Given the description of an element on the screen output the (x, y) to click on. 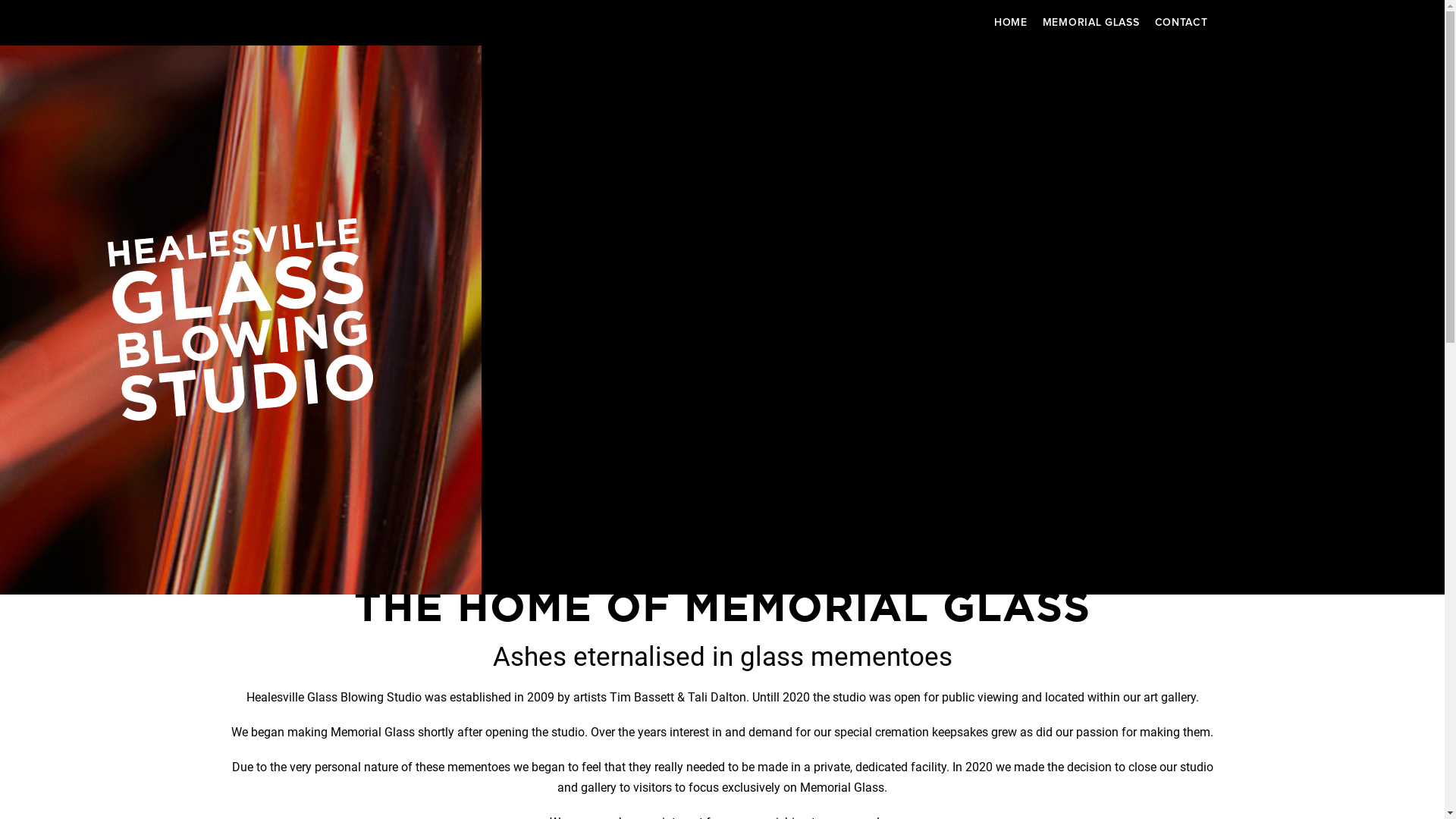
HOME Element type: text (1010, 22)
MEMORIAL GLASS Element type: text (1091, 22)
CONTACT Element type: text (1181, 22)
logo-white Element type: hover (240, 319)
